Given the description of an element on the screen output the (x, y) to click on. 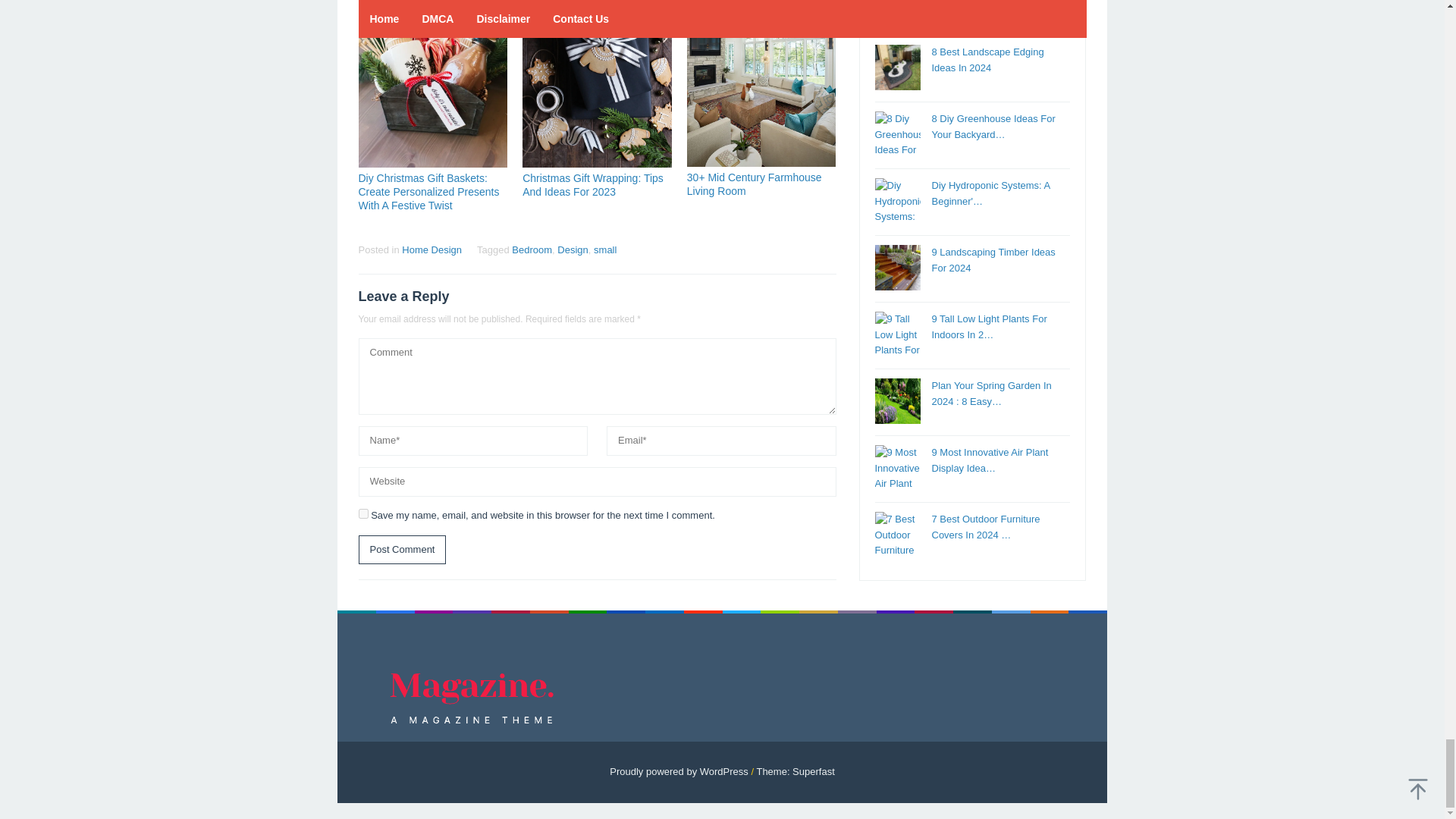
yes (363, 513)
Post Comment (401, 550)
Christmas Gift Wrapping: Tips And Ideas For 2023 (592, 184)
small (604, 249)
Theme: Superfast (794, 771)
Home Design (431, 249)
Bedroom (531, 249)
Post Comment (401, 550)
Design (572, 249)
Proudly powered by WordPress (679, 771)
